Given the description of an element on the screen output the (x, y) to click on. 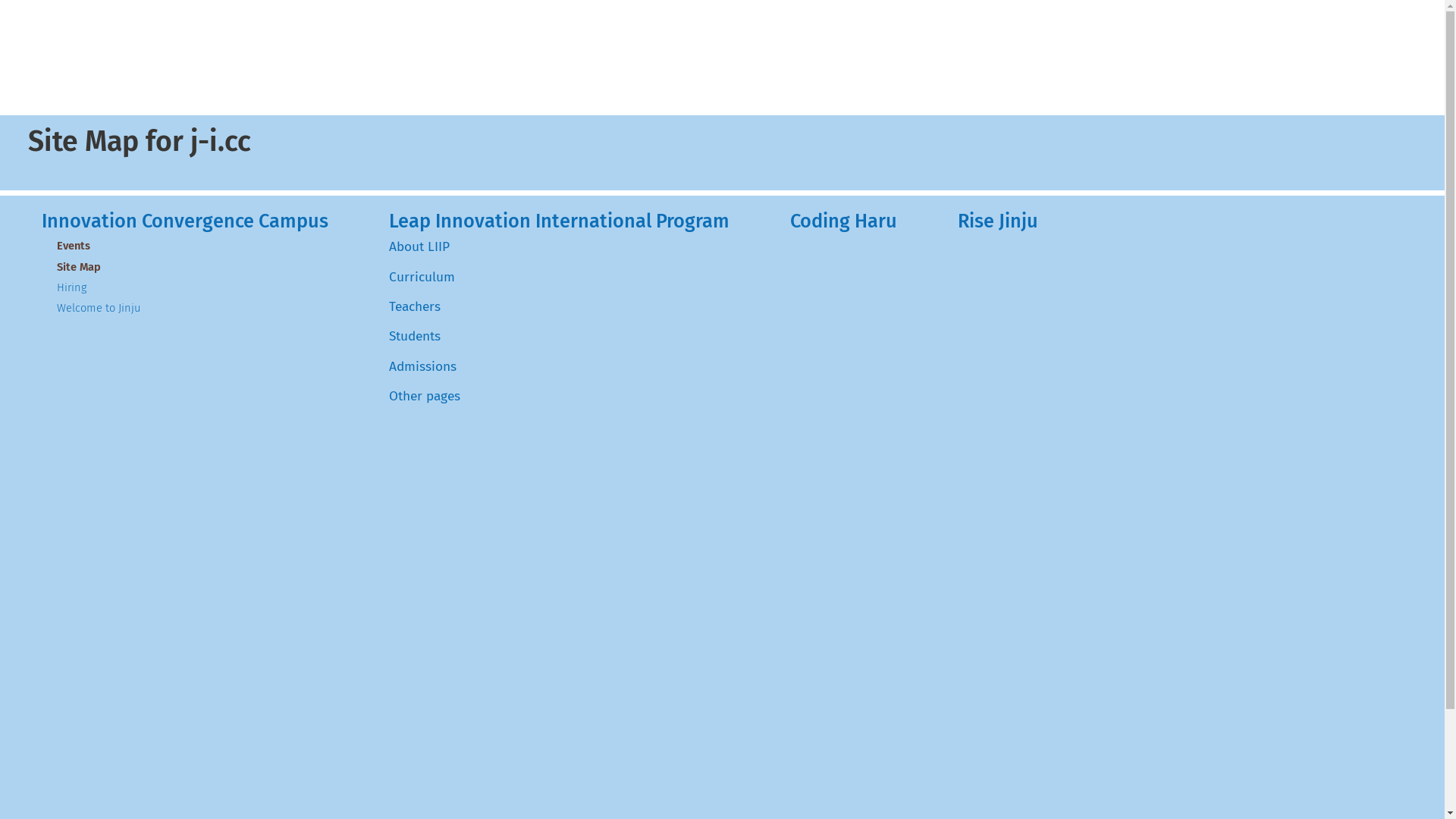
Coding Haru Element type: text (843, 220)
Site Map Element type: text (78, 266)
Teachers Element type: text (414, 306)
Hiring Element type: text (71, 287)
About LIIP Element type: text (419, 246)
Students Element type: text (414, 336)
Events Element type: text (73, 245)
Rise Jinju Element type: text (997, 220)
Welcome to Jinju Element type: text (98, 307)
Leap Innovation International Program Element type: text (559, 220)
Other pages Element type: text (424, 396)
Curriculum Element type: text (422, 277)
Innovation Convergence Campus Element type: text (184, 220)
Admissions Element type: text (422, 366)
